Given the description of an element on the screen output the (x, y) to click on. 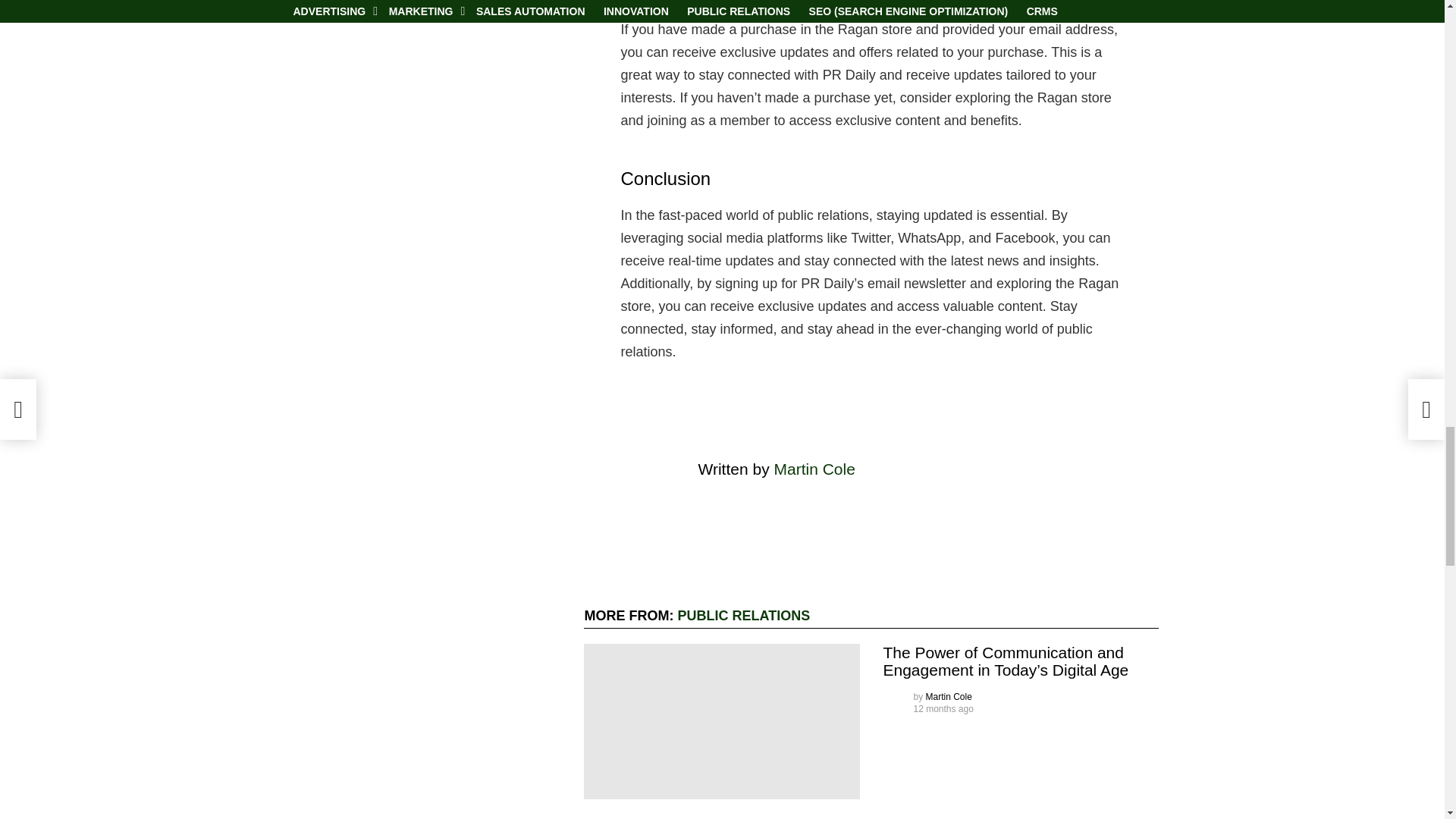
August 1, 2023, 9:26 pm (942, 708)
Posts by Martin Cole (949, 696)
